Given the description of an element on the screen output the (x, y) to click on. 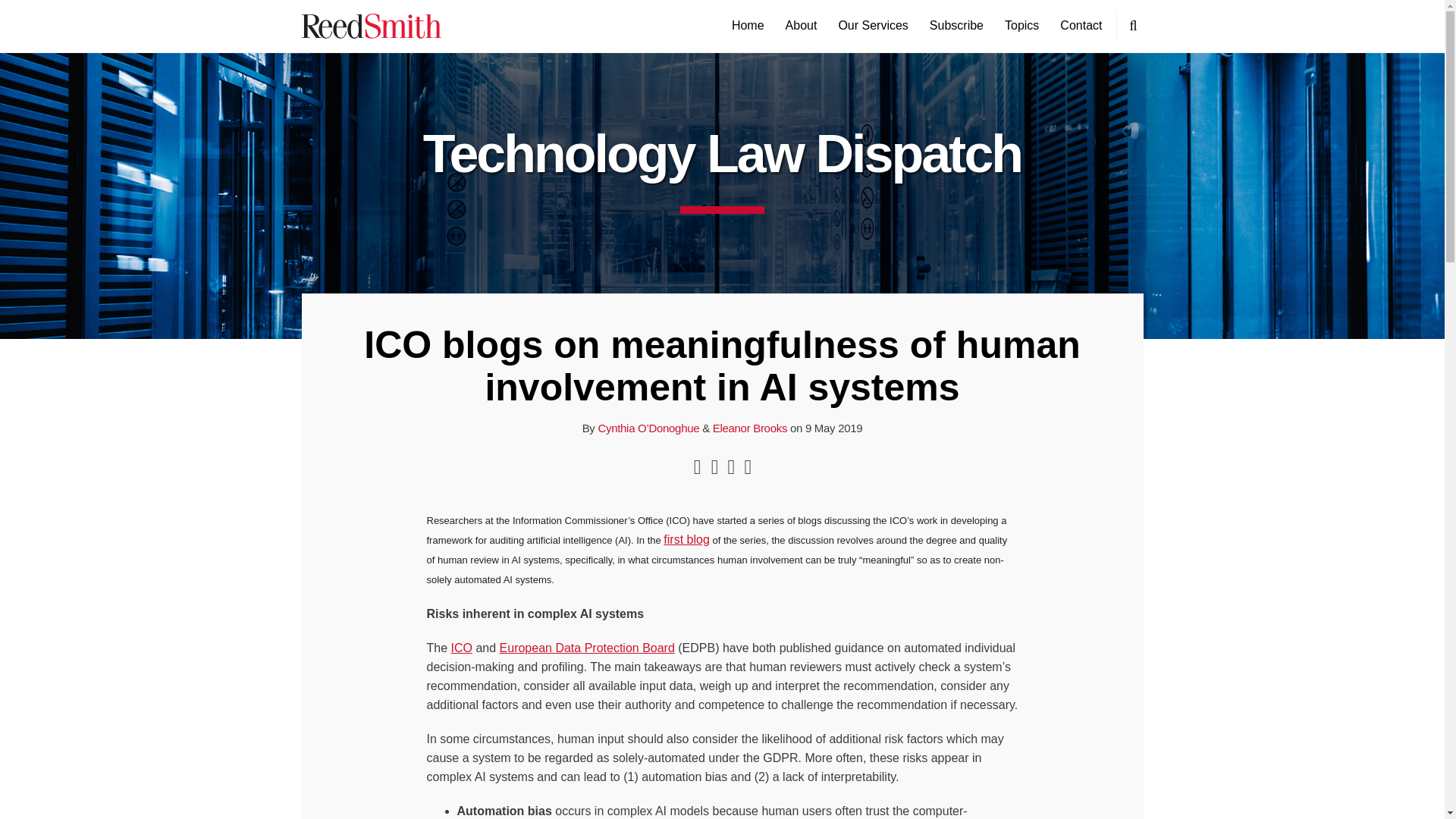
Eleanor Brooks (750, 427)
About (801, 25)
Topics (1021, 25)
European Data Protection Board (587, 647)
Technology Law Dispatch (722, 153)
Contact (1080, 25)
ICO (461, 647)
first blog (686, 539)
Home (748, 25)
Subscribe (957, 25)
Our Services (872, 25)
